Given the description of an element on the screen output the (x, y) to click on. 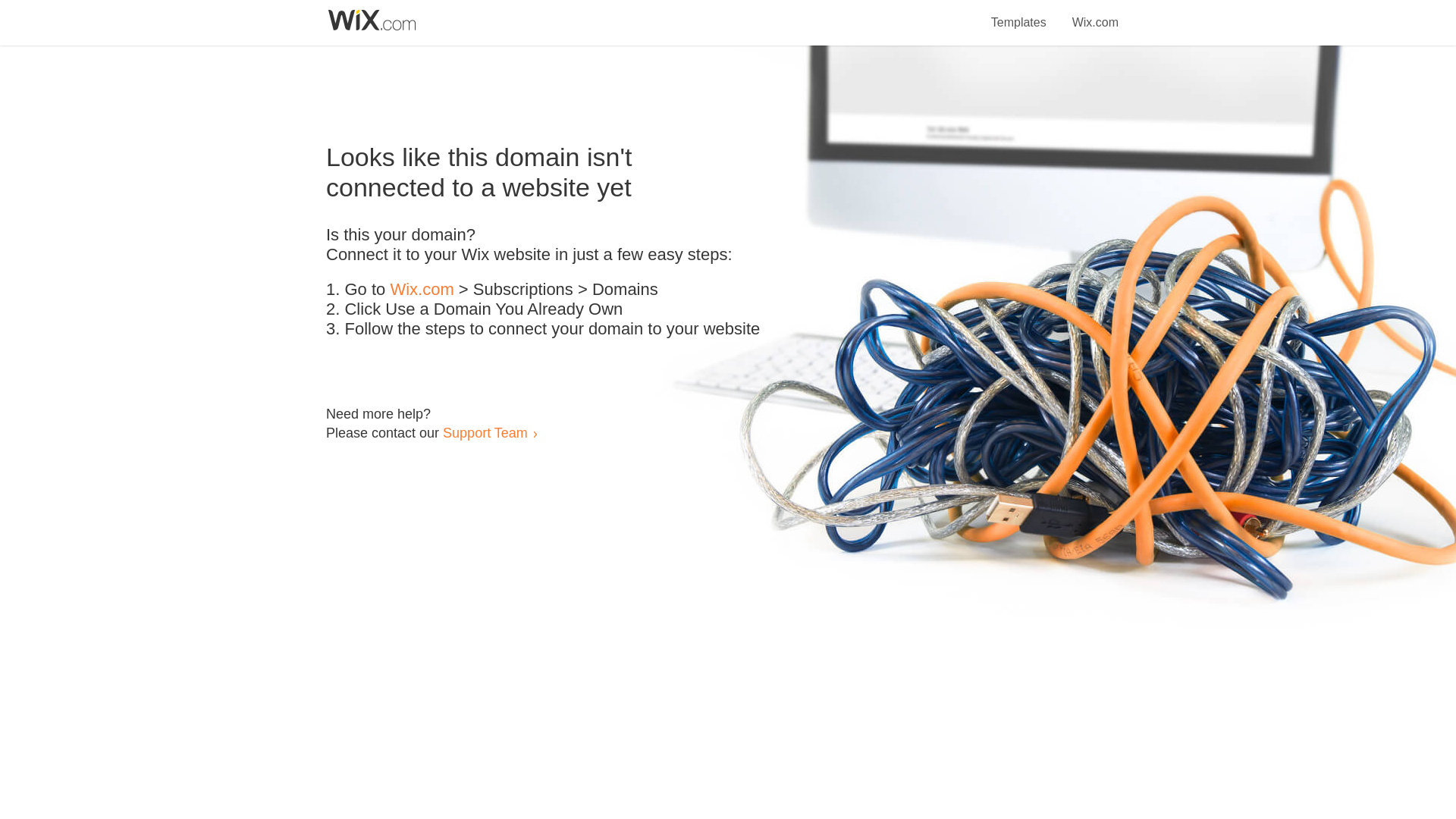
Templates (1018, 14)
Wix.com (1095, 14)
Wix.com (421, 289)
Support Team (484, 432)
